Given the description of an element on the screen output the (x, y) to click on. 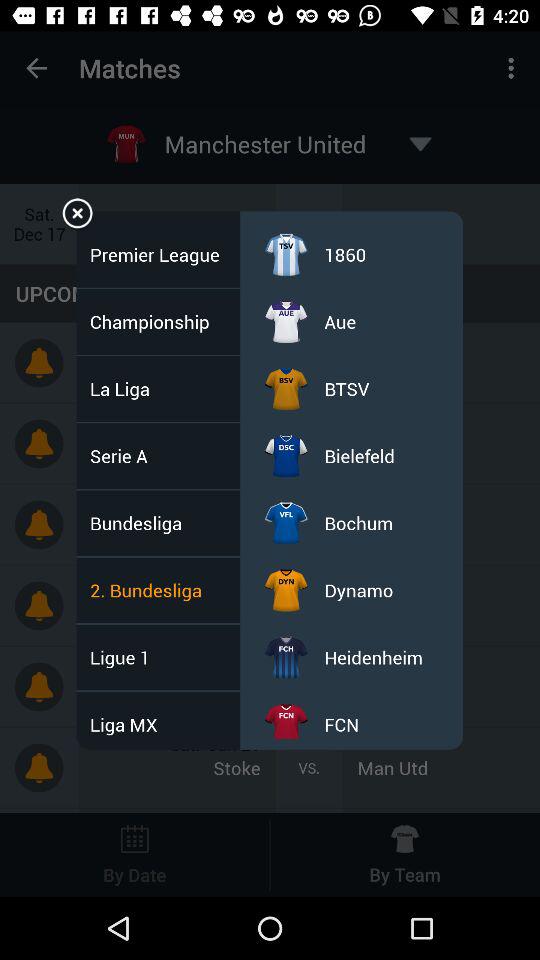
flip until bochum (358, 522)
